Given the description of an element on the screen output the (x, y) to click on. 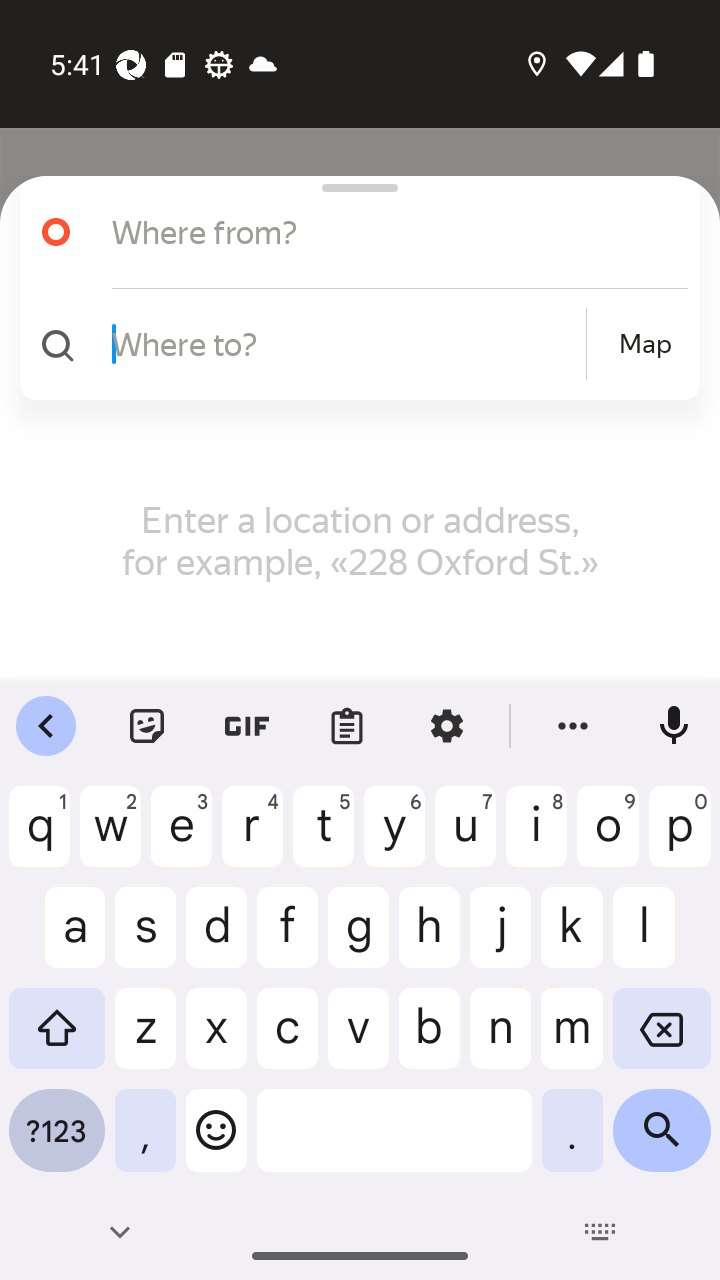
Where from? (352, 232)
Where from? (373, 232)
Where to? Map Map (352, 343)
Map (645, 343)
Where to? (346, 343)
